Given the description of an element on the screen output the (x, y) to click on. 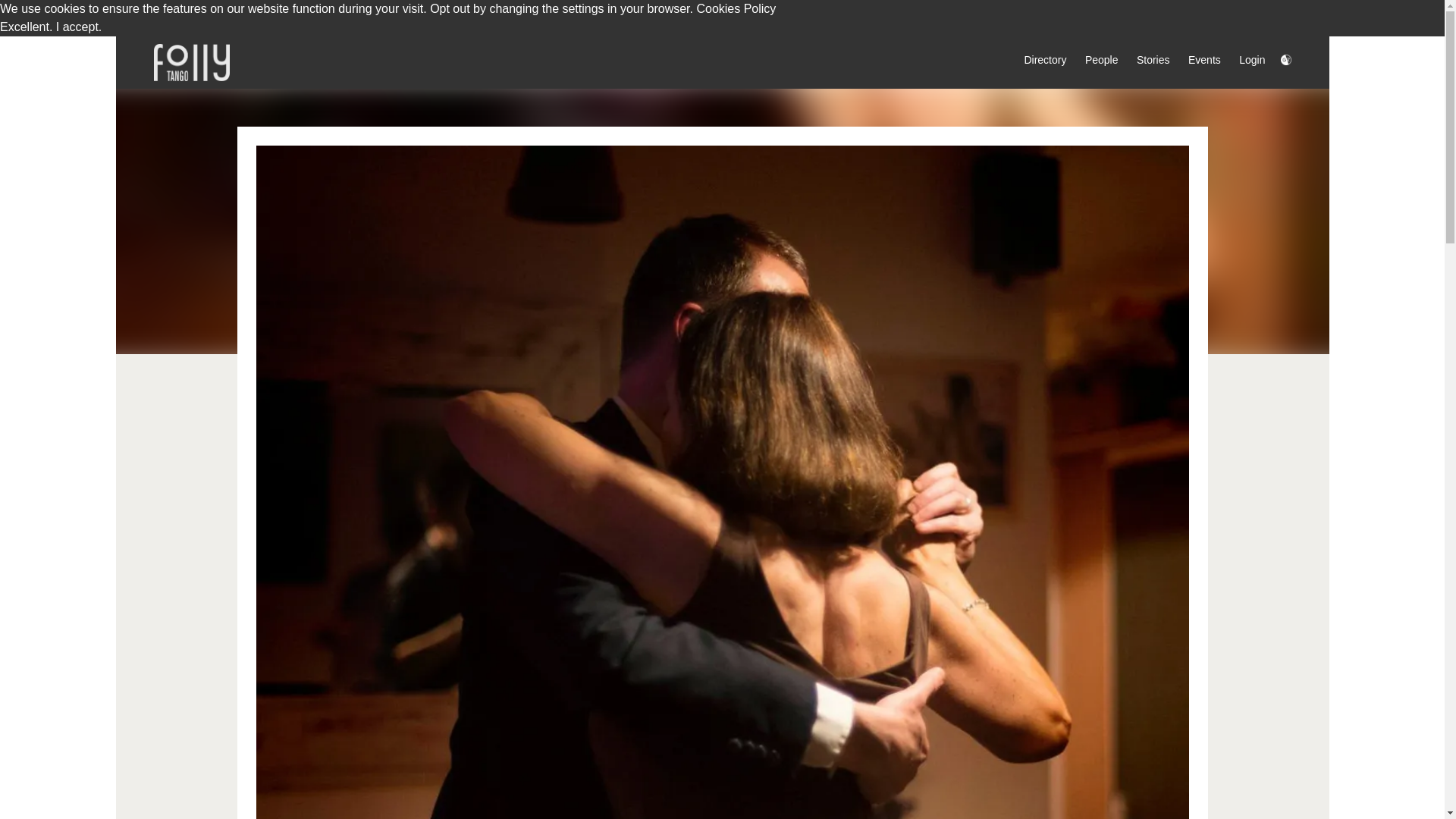
People (1094, 60)
Excellent. I accept. (50, 26)
Login (1244, 60)
Events (1197, 60)
Directory (1037, 60)
Cookies Policy (735, 8)
Stories (1145, 60)
